Given the description of an element on the screen output the (x, y) to click on. 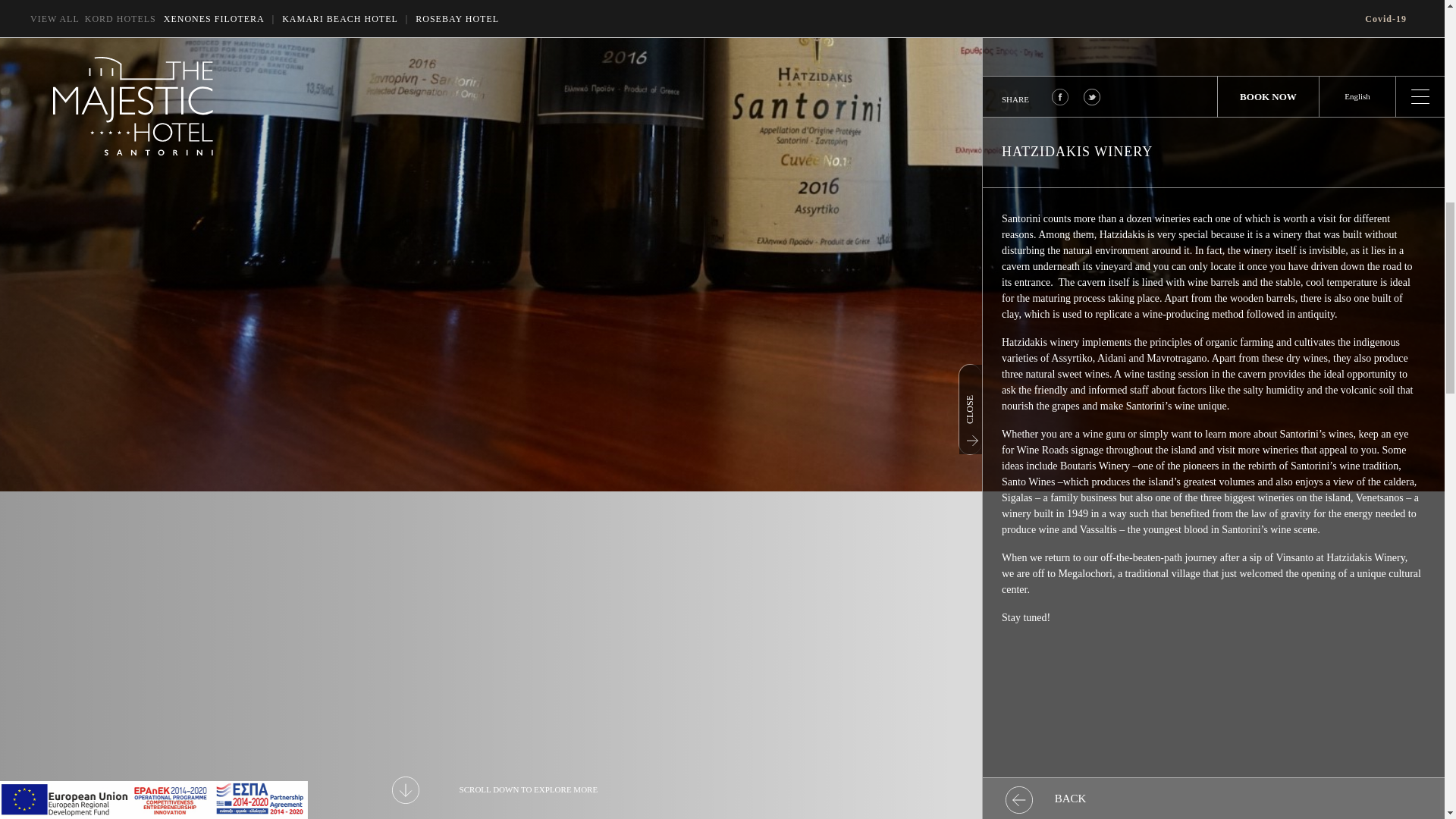
SCROLL DOWN TO EXPLORE MORE (495, 790)
SCROLL DOWN TO EXPLORE MORE (495, 790)
